Given the description of an element on the screen output the (x, y) to click on. 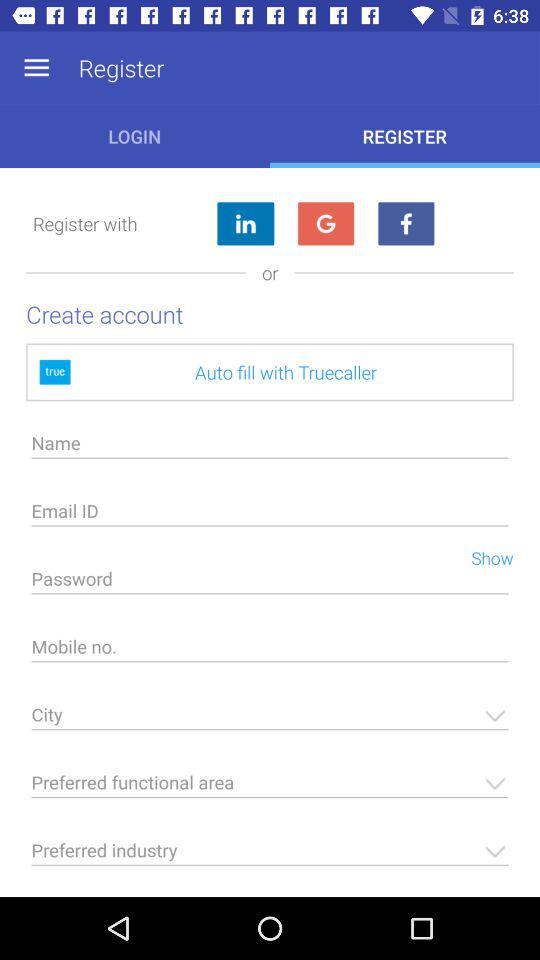
launch the icon above or item (325, 223)
